Given the description of an element on the screen output the (x, y) to click on. 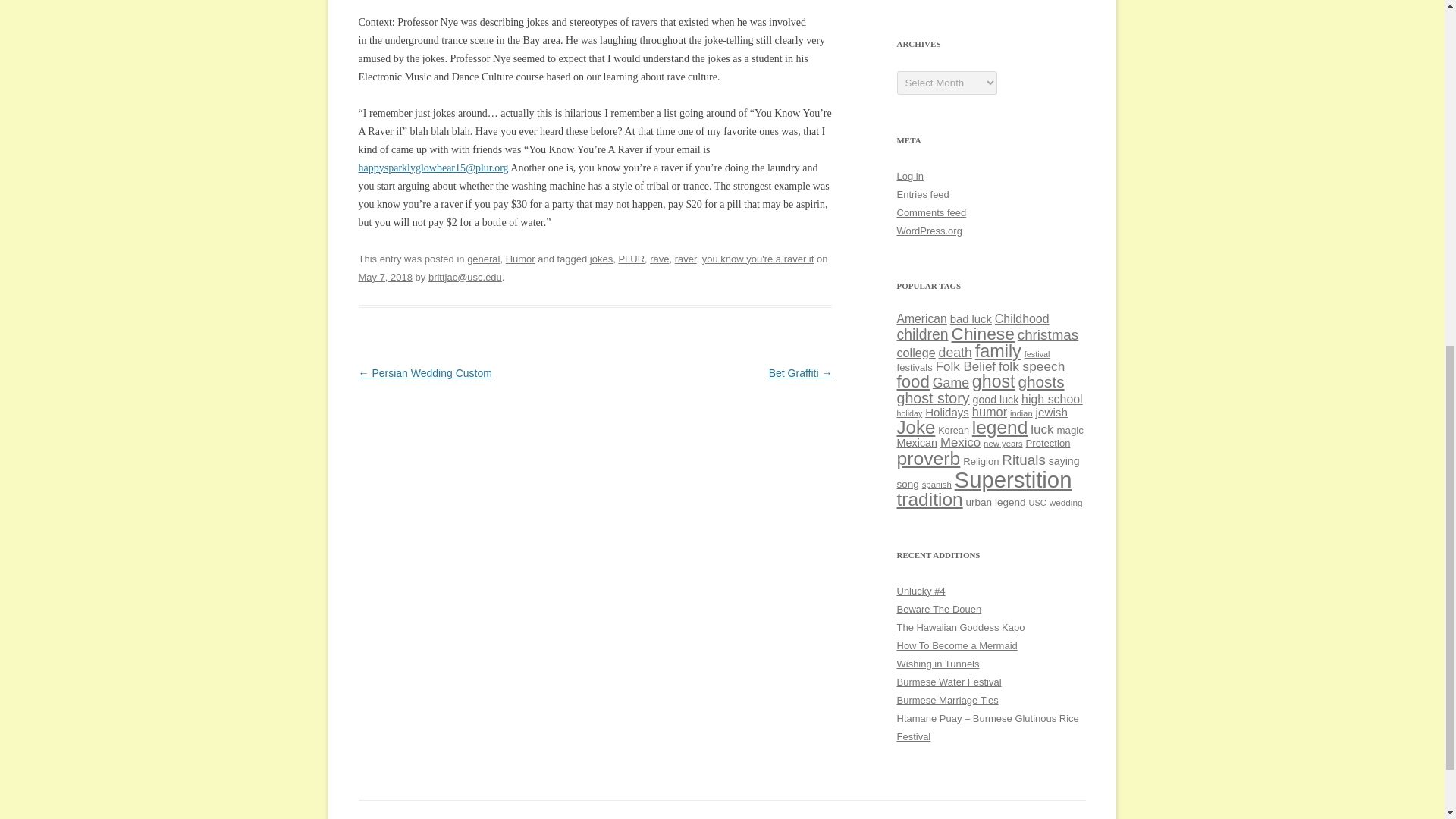
folk speech (1031, 365)
raver (686, 258)
family (998, 351)
death (955, 352)
May 7, 2018 (385, 276)
ghost (993, 381)
Childhood (1021, 318)
jokes (600, 258)
children (921, 334)
Humor (520, 258)
rave (658, 258)
PLUR (631, 258)
festivals (913, 367)
food (912, 381)
Chinese (981, 333)
